Given the description of an element on the screen output the (x, y) to click on. 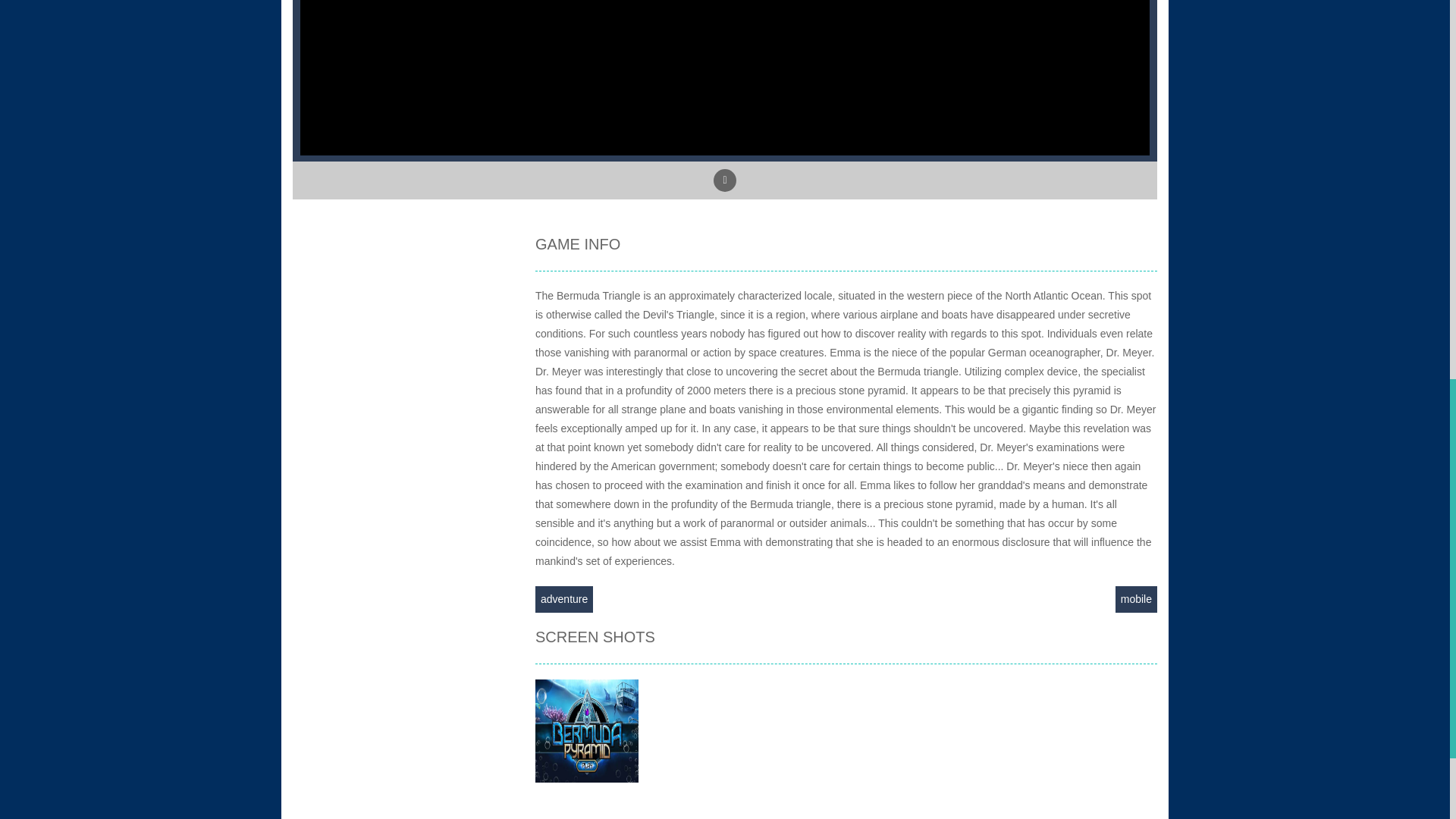
adventure (563, 599)
mobile (1136, 599)
